Given the description of an element on the screen output the (x, y) to click on. 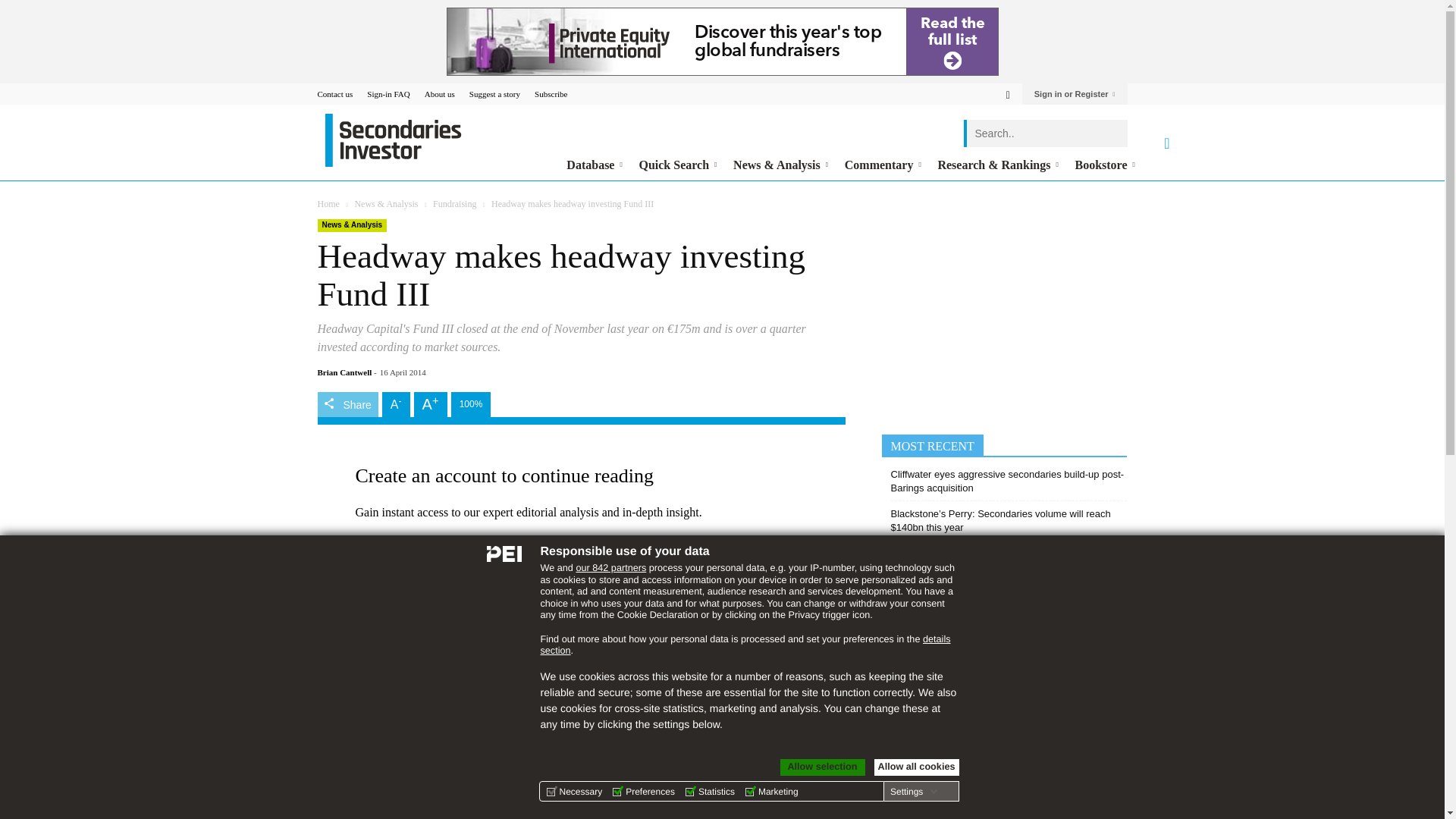
Allow selection (821, 767)
details section (745, 644)
our 842 partners (610, 567)
Settings (913, 791)
Allow all cookies (915, 767)
